Given the description of an element on the screen output the (x, y) to click on. 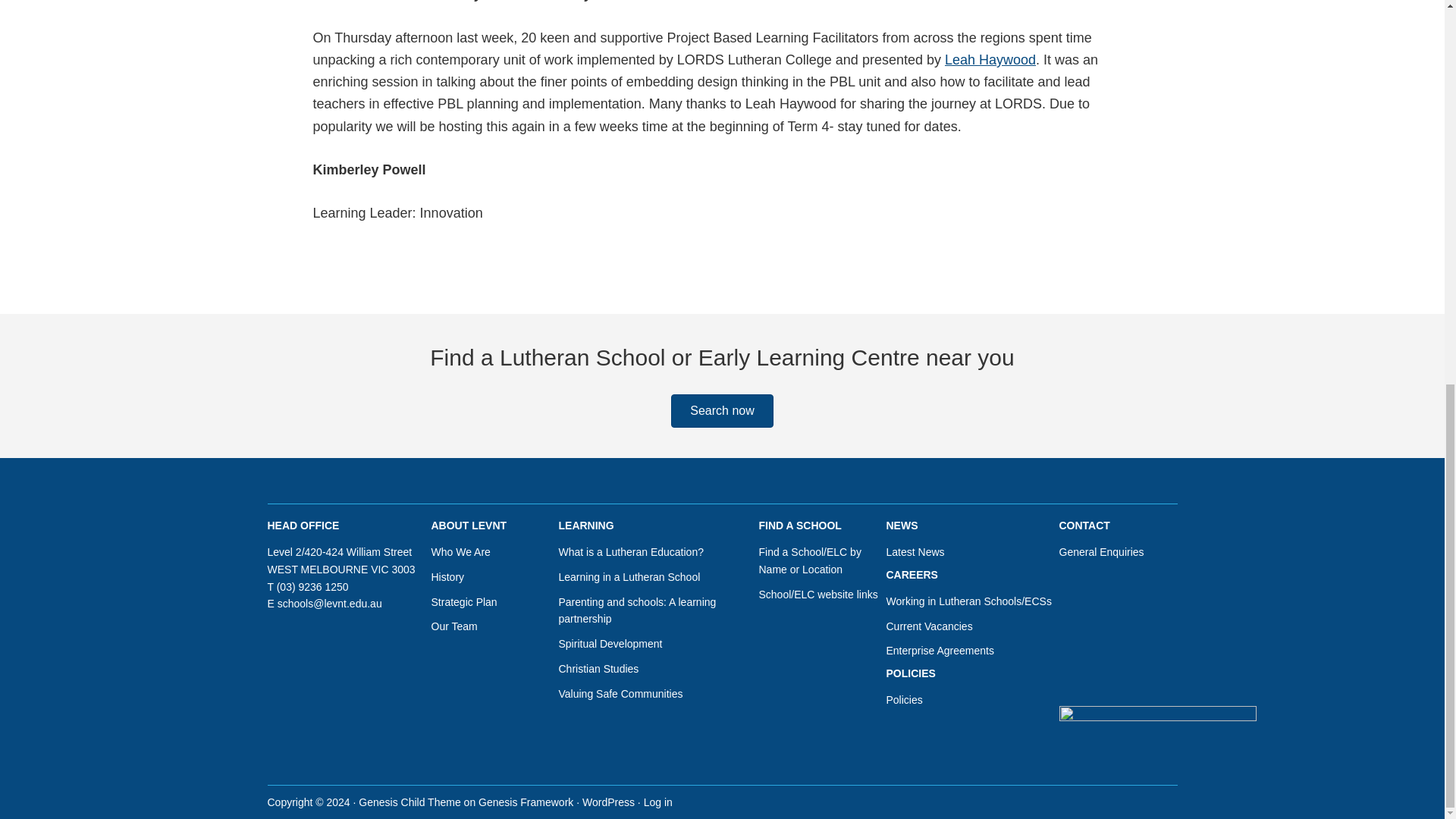
Strategic Plan (463, 602)
Leah Haywood (989, 59)
Who We Are (459, 551)
Our Team (453, 625)
History (447, 576)
Search now (722, 410)
